Given the description of an element on the screen output the (x, y) to click on. 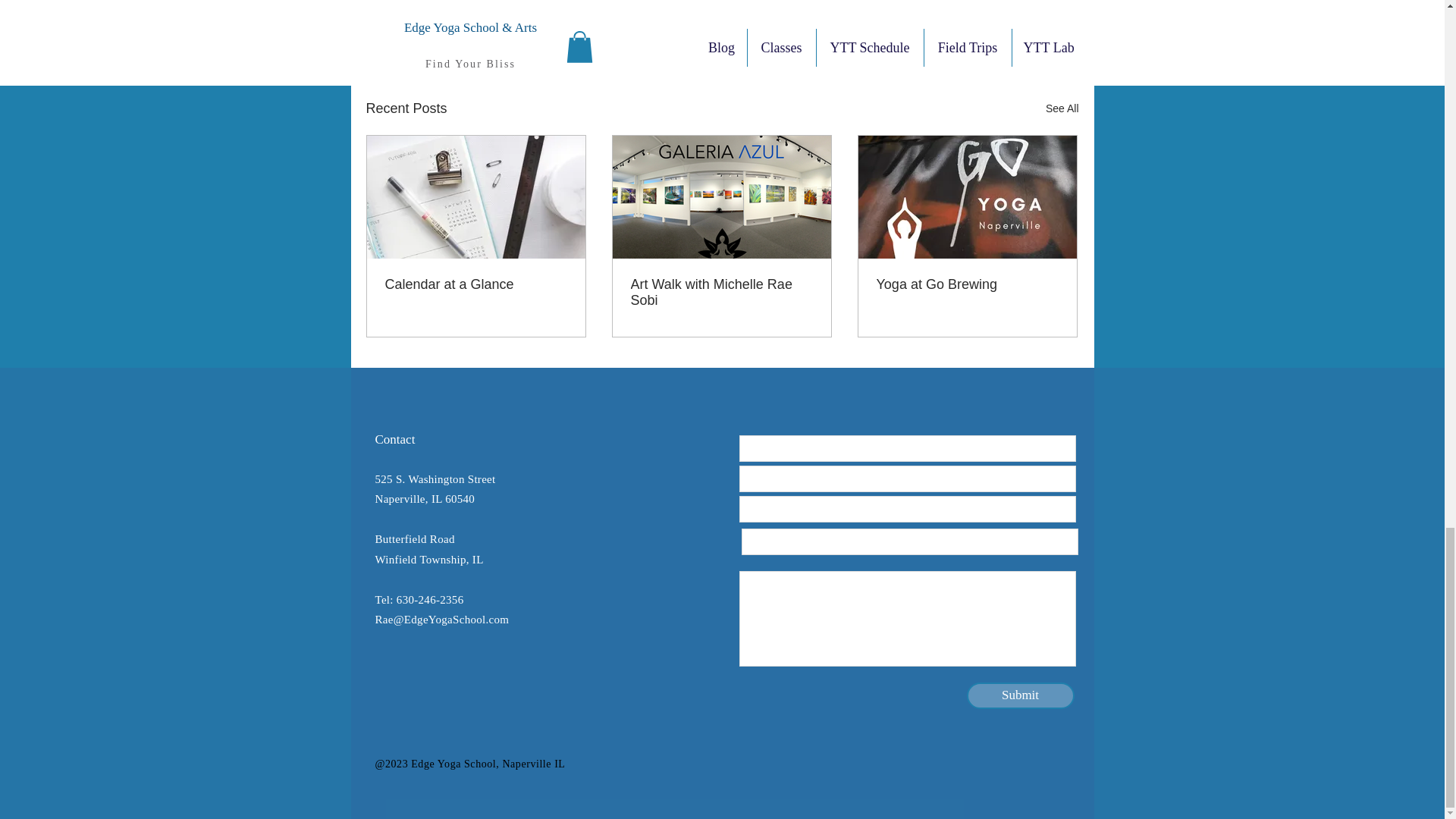
Art Walk with Michelle Rae Sobi (721, 292)
Calendar at a Glance (476, 284)
Submit (1020, 695)
See All (1061, 108)
Yoga at Go Brewing (967, 284)
